Given the description of an element on the screen output the (x, y) to click on. 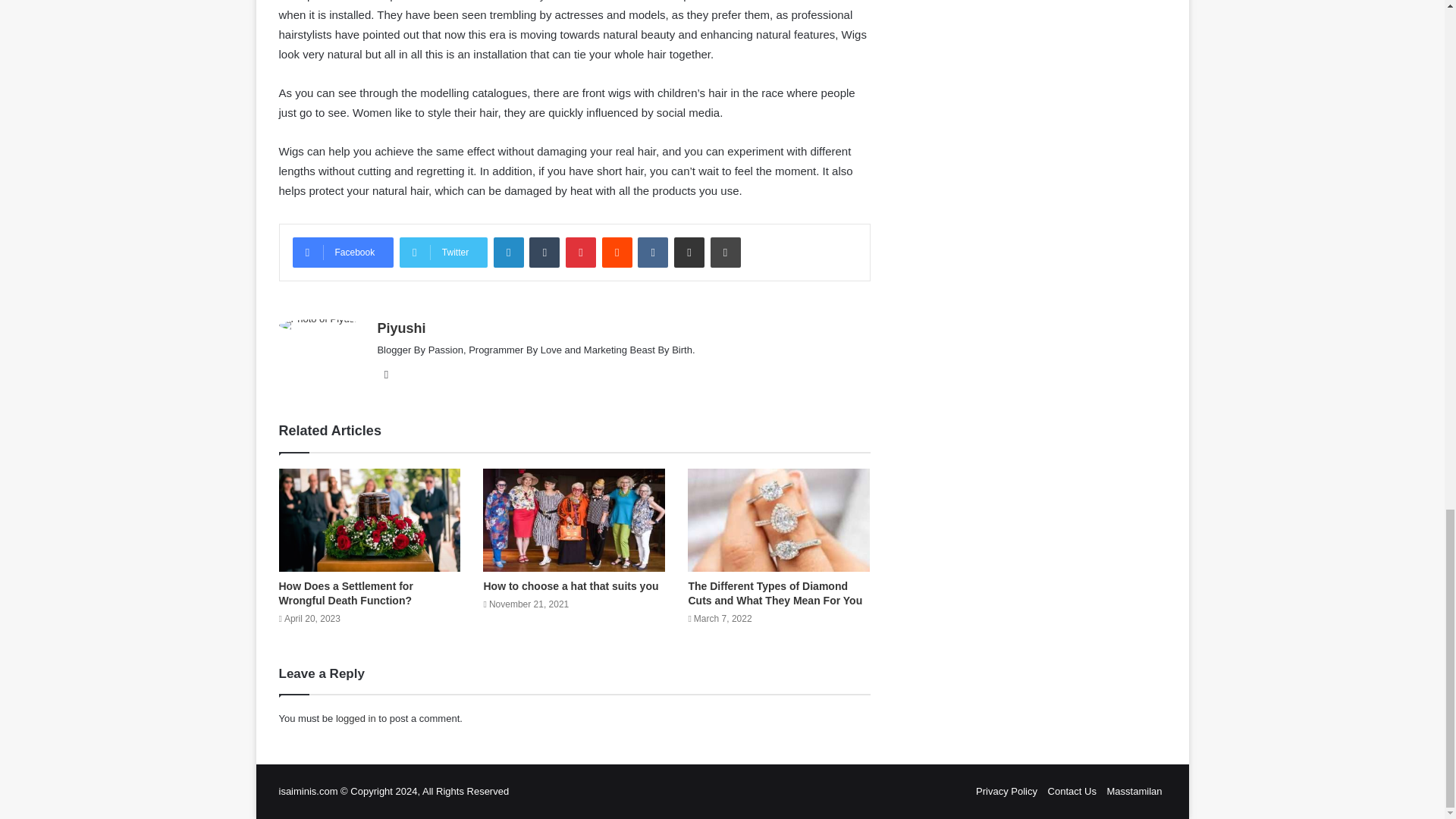
Reddit (616, 252)
Print (725, 252)
Share via Email (689, 252)
VKontakte (652, 252)
VKontakte (652, 252)
LinkedIn (508, 252)
Website (385, 374)
Pinterest (580, 252)
How Does a Settlement for Wrongful Death Function? (346, 592)
Twitter (442, 252)
Print (725, 252)
Tumblr (544, 252)
Facebook (343, 252)
Pinterest (580, 252)
LinkedIn (508, 252)
